Given the description of an element on the screen output the (x, y) to click on. 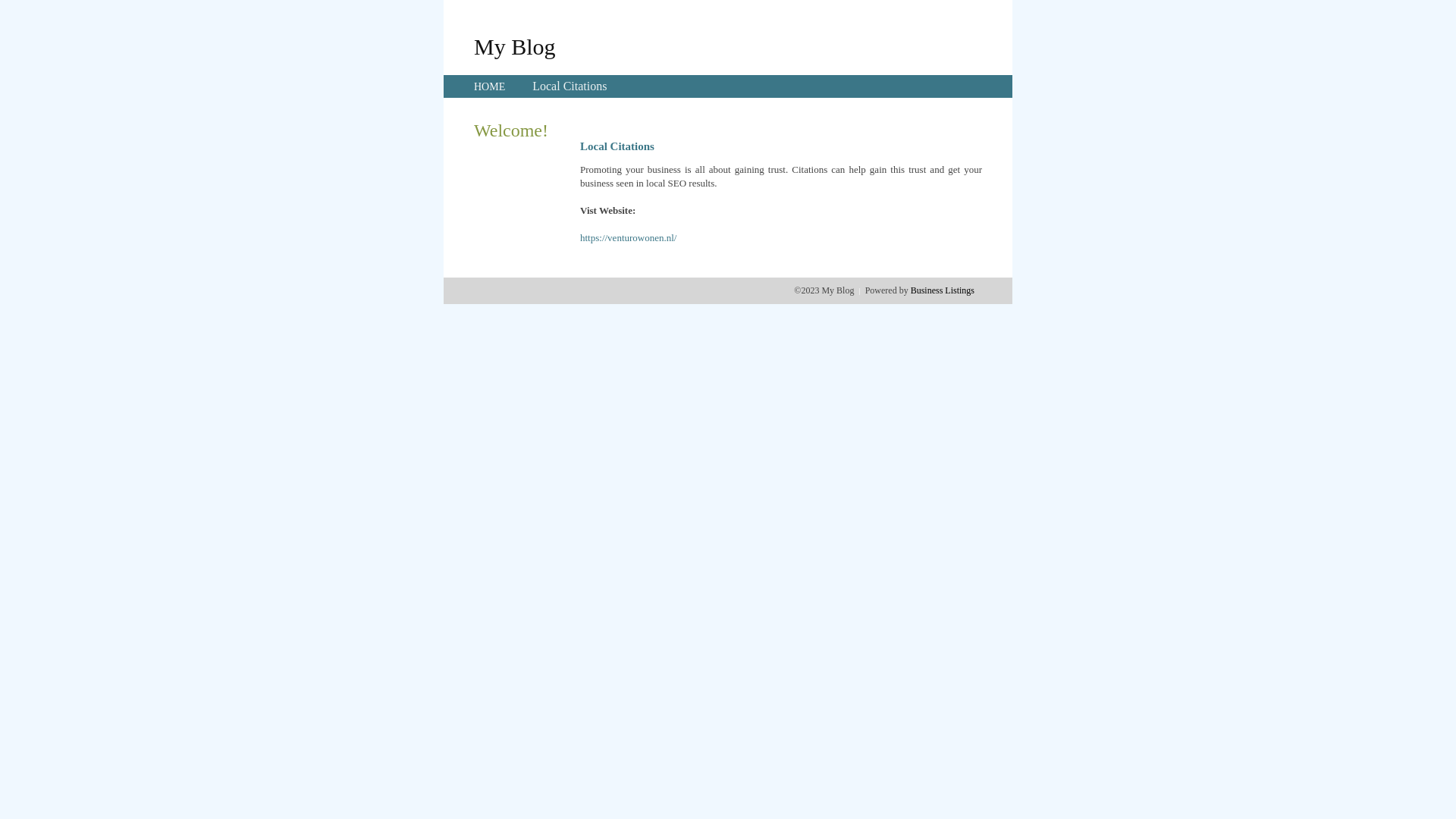
Local Citations Element type: text (569, 85)
My Blog Element type: text (514, 46)
HOME Element type: text (489, 86)
https://venturowonen.nl/ Element type: text (628, 237)
Business Listings Element type: text (942, 290)
